Given the description of an element on the screen output the (x, y) to click on. 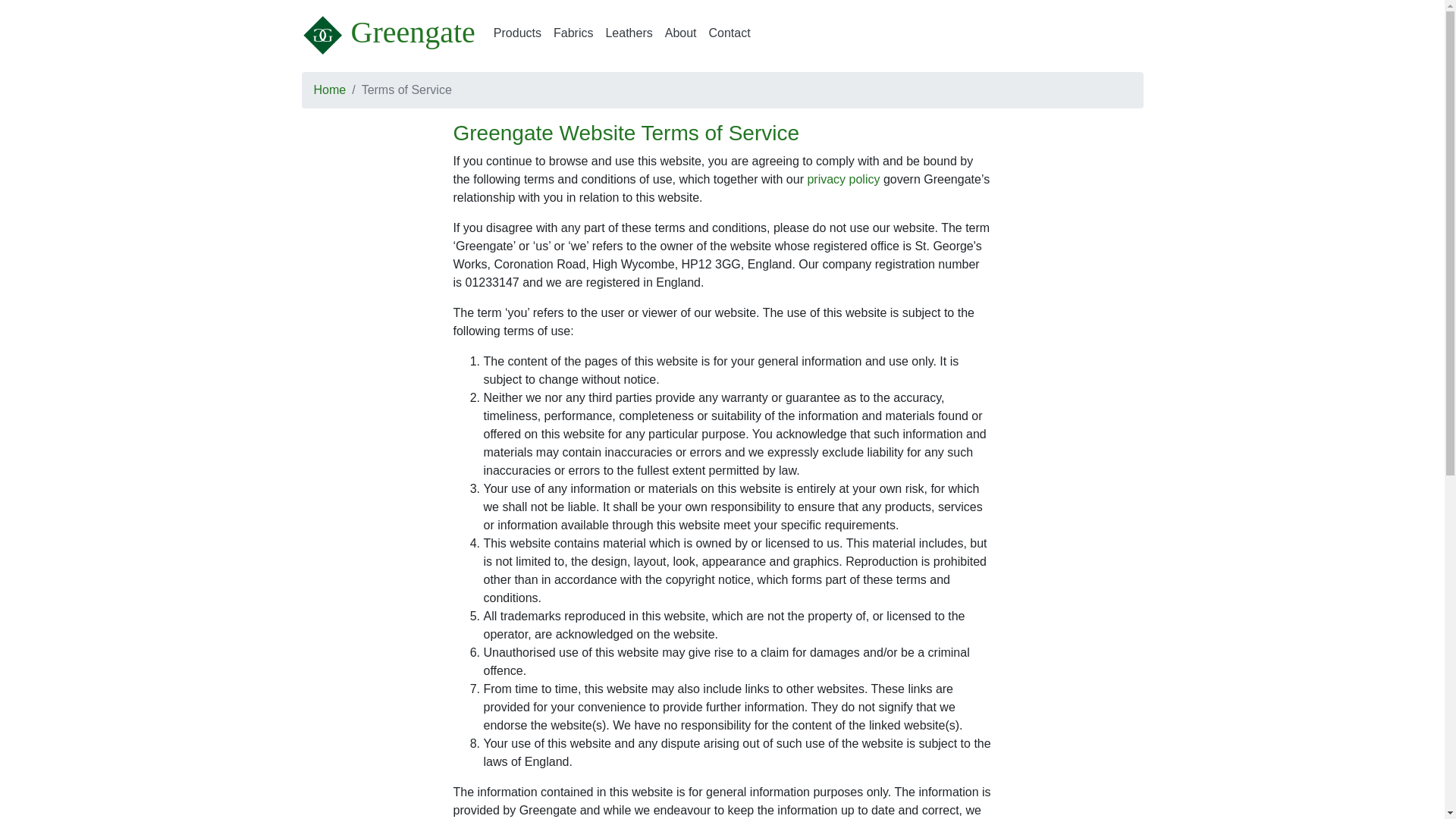
privacy policy (842, 178)
Home (330, 89)
Fabrics (572, 33)
Greengate (388, 32)
Contact (730, 33)
Leathers (628, 33)
About (681, 33)
Products (517, 33)
